Given the description of an element on the screen output the (x, y) to click on. 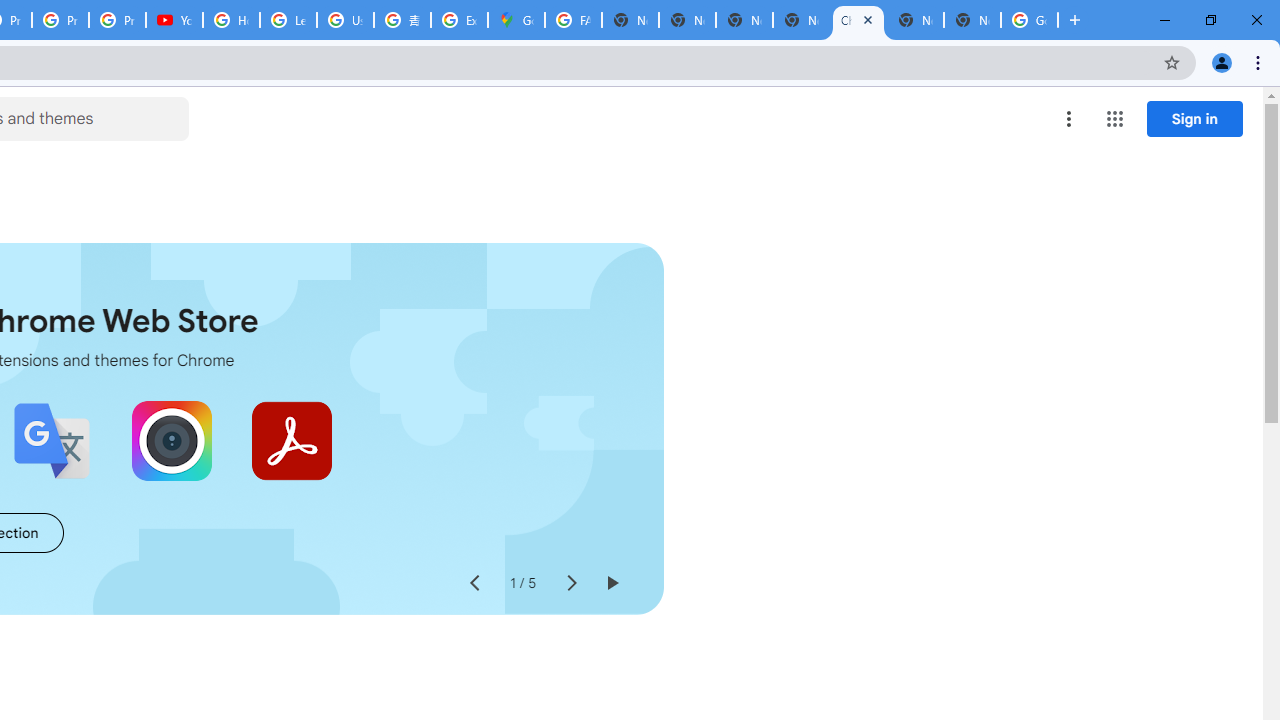
Google Images (1029, 20)
More options menu (1069, 118)
Adobe Acrobat: PDF edit, convert, sign tools (291, 440)
Previous slide (474, 583)
Chrome Web Store (858, 20)
Privacy Checkup (116, 20)
Awesome Screen Recorder & Screenshot (171, 440)
